Given the description of an element on the screen output the (x, y) to click on. 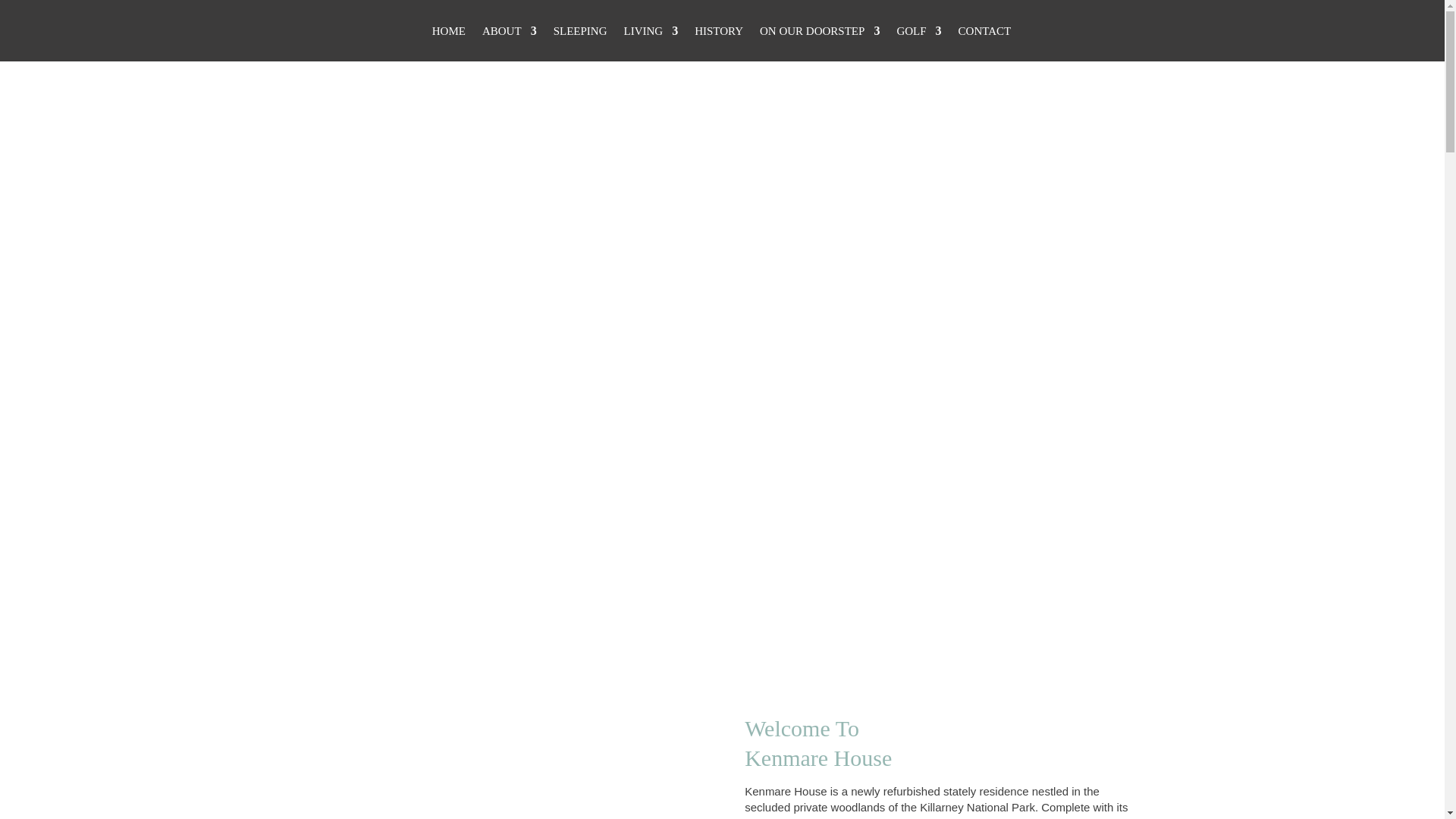
GOLF (918, 43)
HOME (448, 43)
ABOUT (509, 43)
LIVING (650, 43)
SLEEPING (580, 43)
HISTORY (718, 43)
ON OUR DOORSTEP (819, 43)
CONTACT (984, 43)
